Given the description of an element on the screen output the (x, y) to click on. 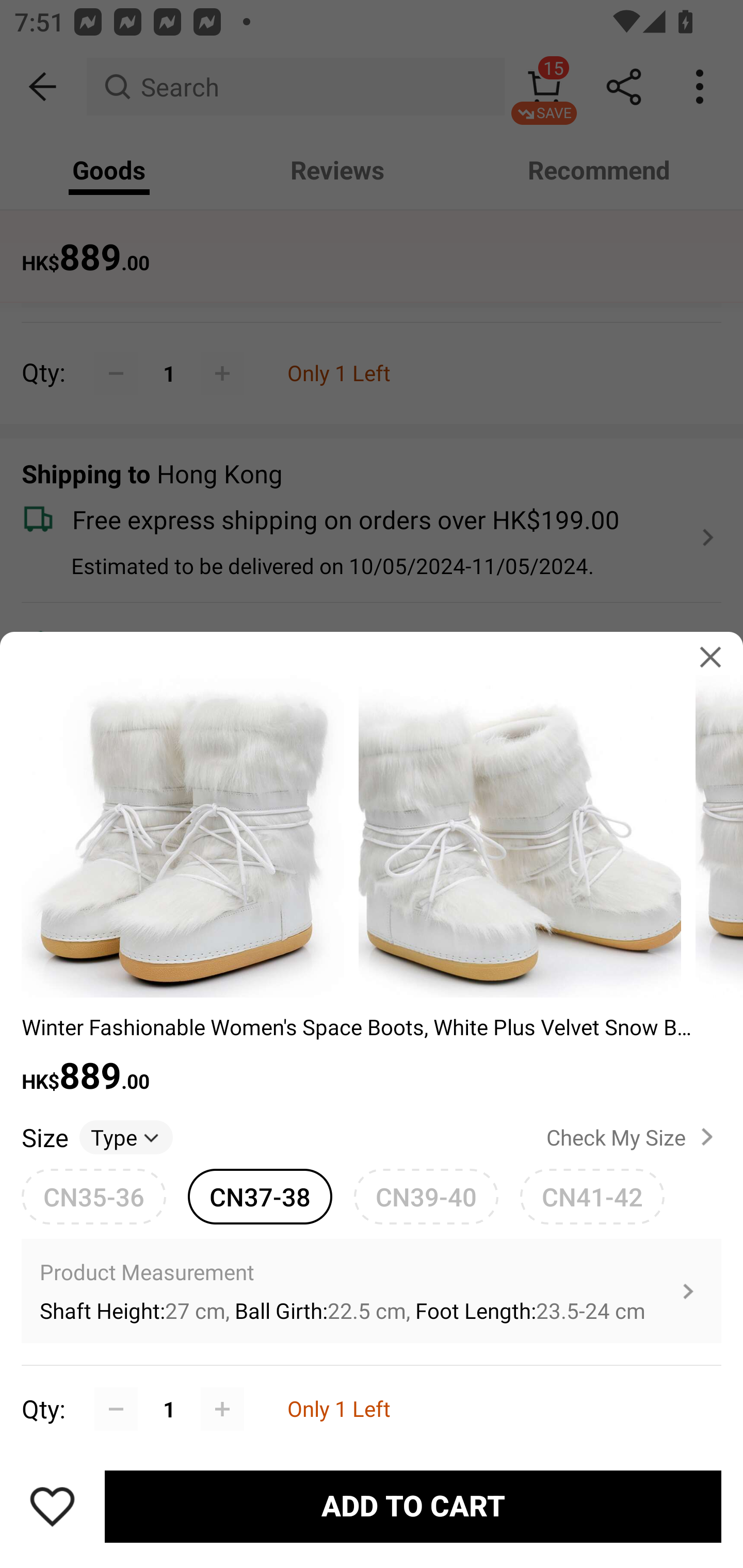
Size (44, 1136)
Type (126, 1136)
Check My Size (633, 1137)
CN35-36 (93, 1196)
CN37-38 CN37-38selected option (259, 1196)
CN39-40 (425, 1196)
CN41-42 (592, 1196)
ADD TO CART (412, 1506)
Save (52, 1505)
